Given the description of an element on the screen output the (x, y) to click on. 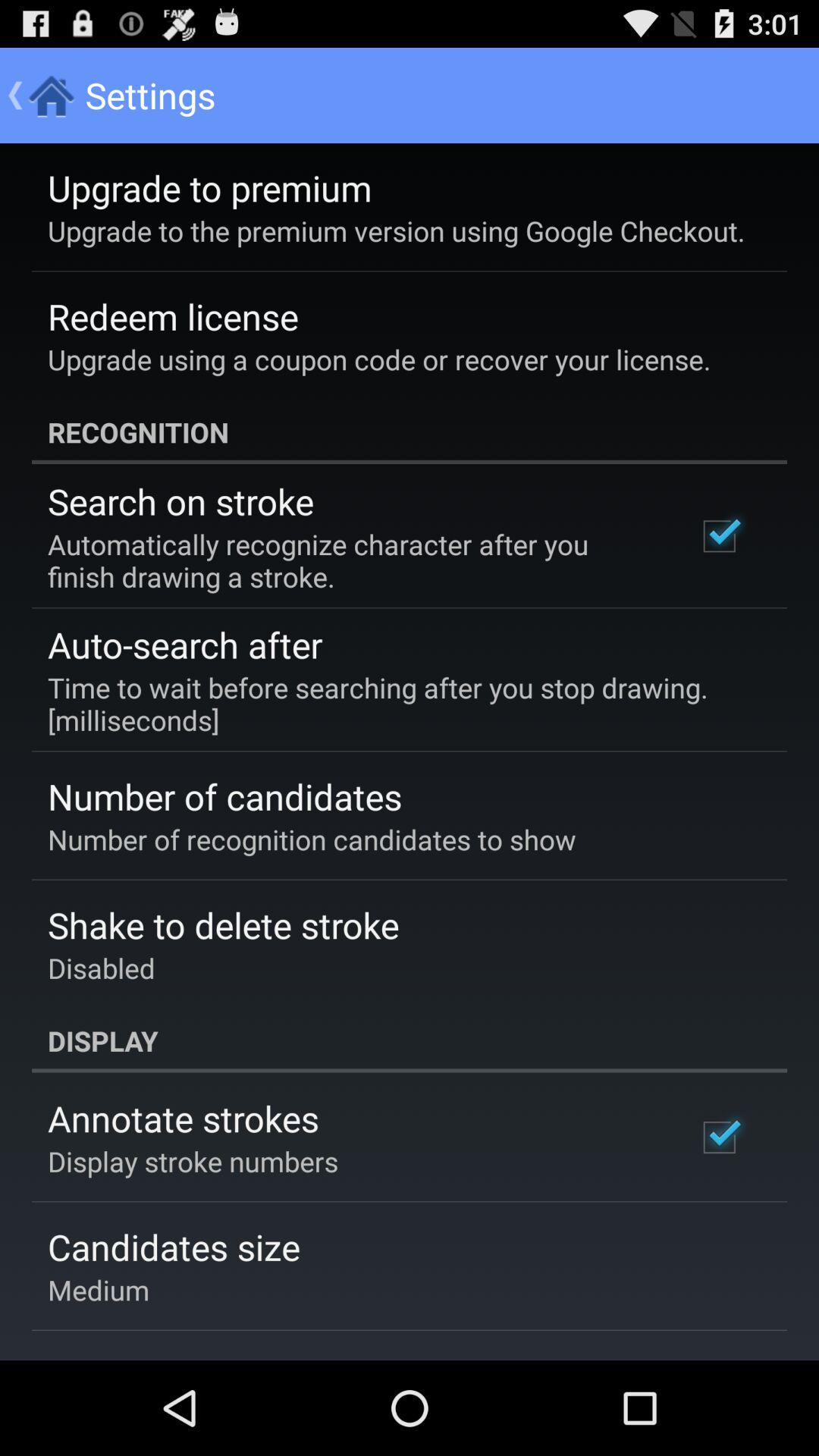
select medium item (98, 1289)
